Given the description of an element on the screen output the (x, y) to click on. 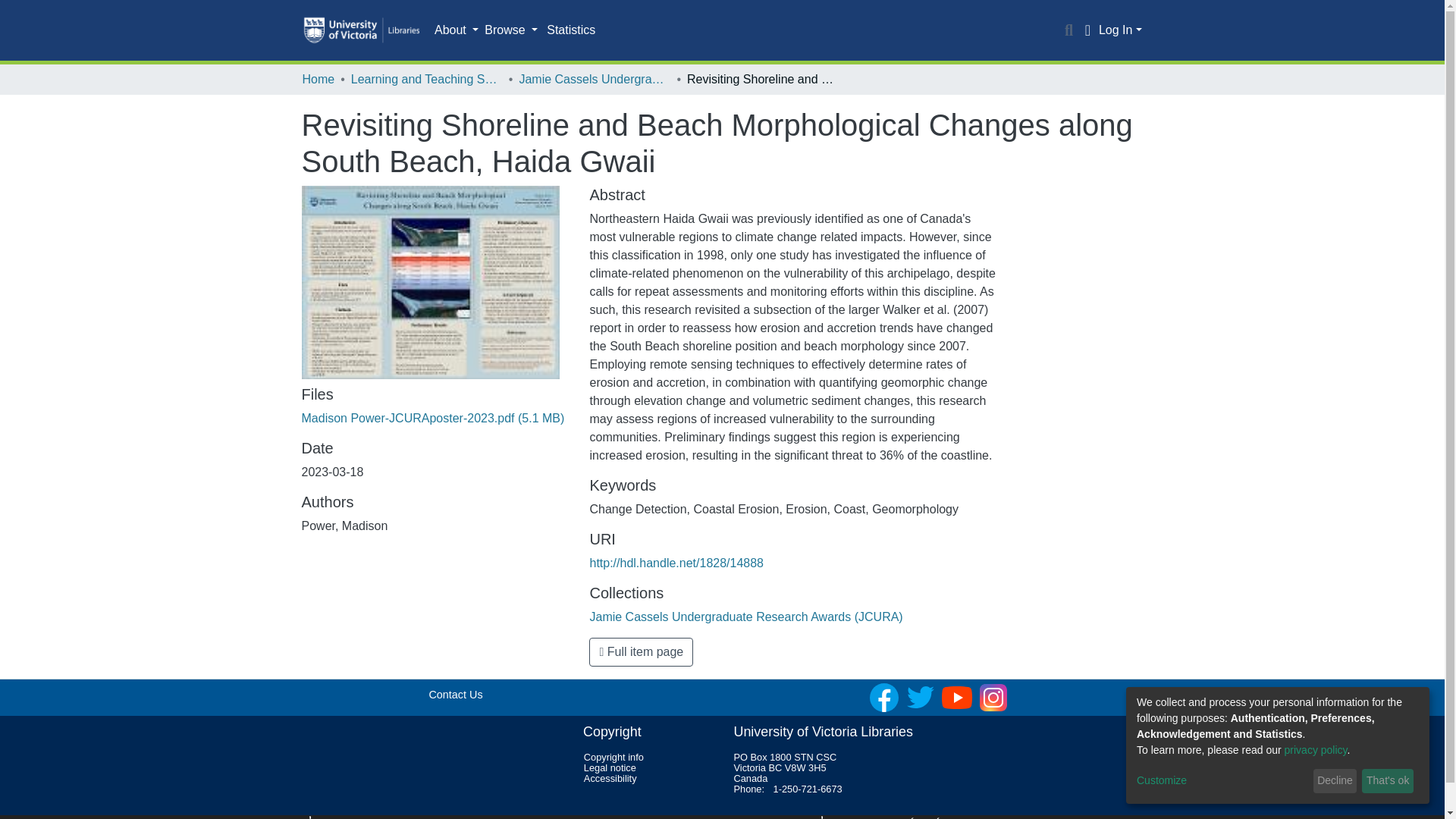
Language switch (1087, 30)
Statistics (570, 30)
Learning and Teaching Support and Innovation (426, 79)
Home (317, 79)
About (455, 30)
Full item page (641, 652)
Statistics (570, 30)
Log In (1119, 29)
Browse (510, 30)
Search (1068, 30)
